Given the description of an element on the screen output the (x, y) to click on. 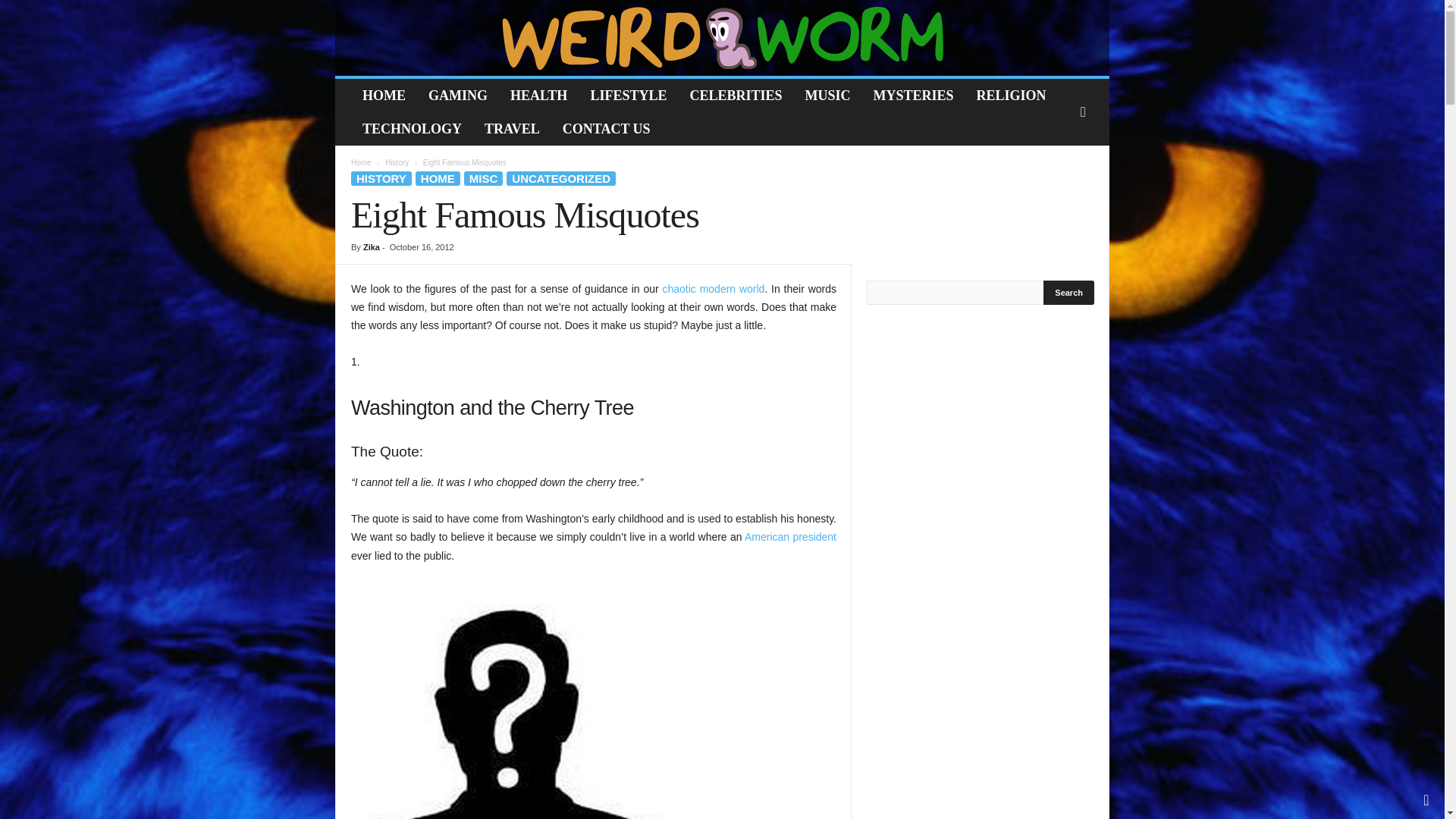
TECHNOLOGY (411, 128)
HEALTH (538, 95)
HOME (383, 95)
TRAVEL (512, 128)
Home (360, 162)
Search (1068, 292)
MUSIC (827, 95)
MISC (483, 178)
MYSTERIES (912, 95)
chaotic modern world (713, 288)
History (397, 162)
LIFESTYLE (628, 95)
Weird Worm (722, 38)
GAMING (457, 95)
HOME (437, 178)
